Given the description of an element on the screen output the (x, y) to click on. 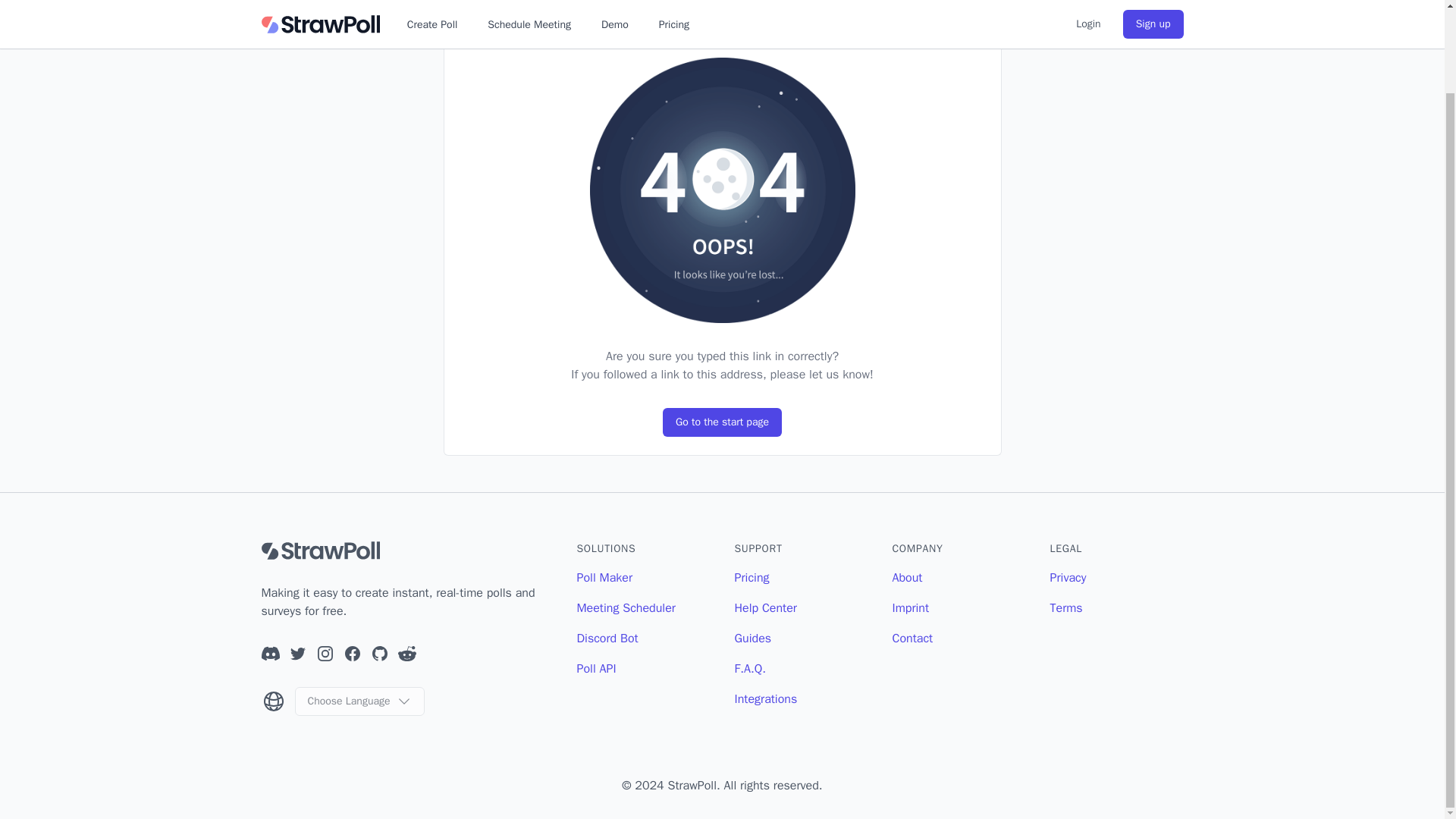
Facebook (351, 653)
Twitter (296, 653)
Discord (269, 653)
Meeting Scheduler (625, 607)
Choose Language (358, 701)
GitHub (378, 653)
Go to the start page (721, 421)
Poll API (595, 668)
Pricing (750, 577)
Poll Maker (603, 577)
